Given the description of an element on the screen output the (x, y) to click on. 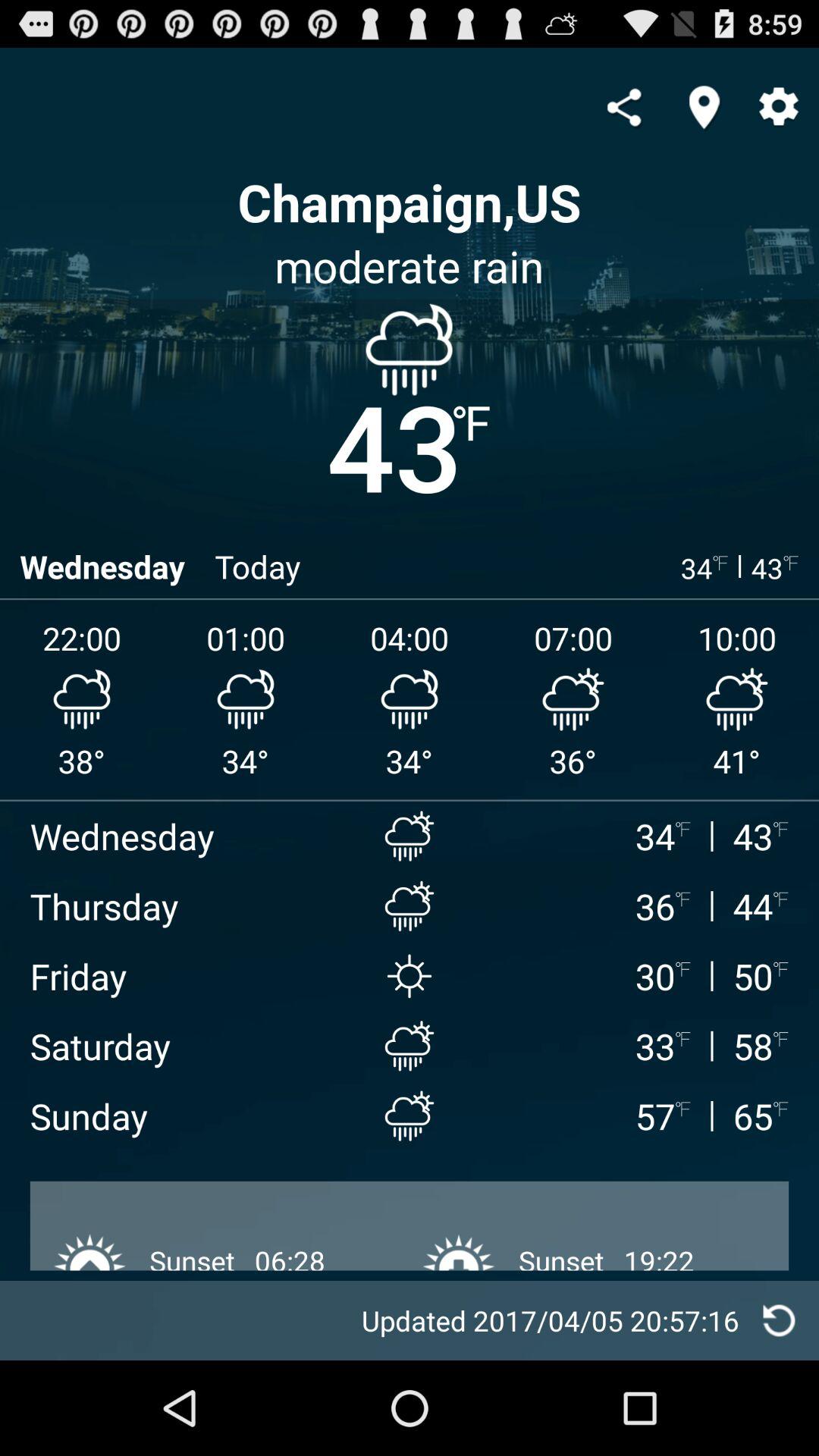
reload (779, 1320)
